Given the description of an element on the screen output the (x, y) to click on. 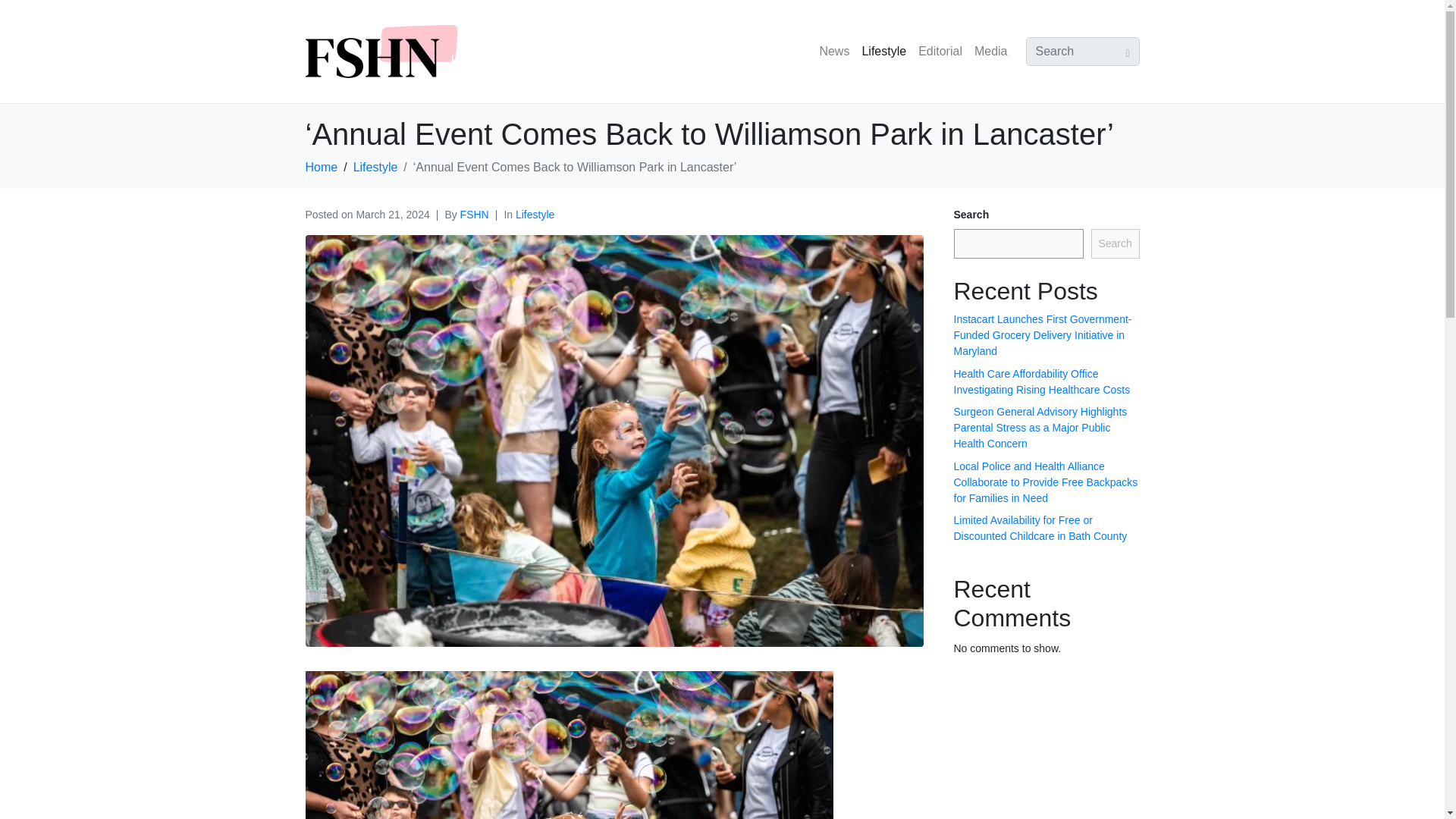
Lifestyle (884, 51)
News (834, 51)
Editorial (940, 51)
Home (320, 166)
Media (990, 51)
Search (1115, 243)
